Given the description of an element on the screen output the (x, y) to click on. 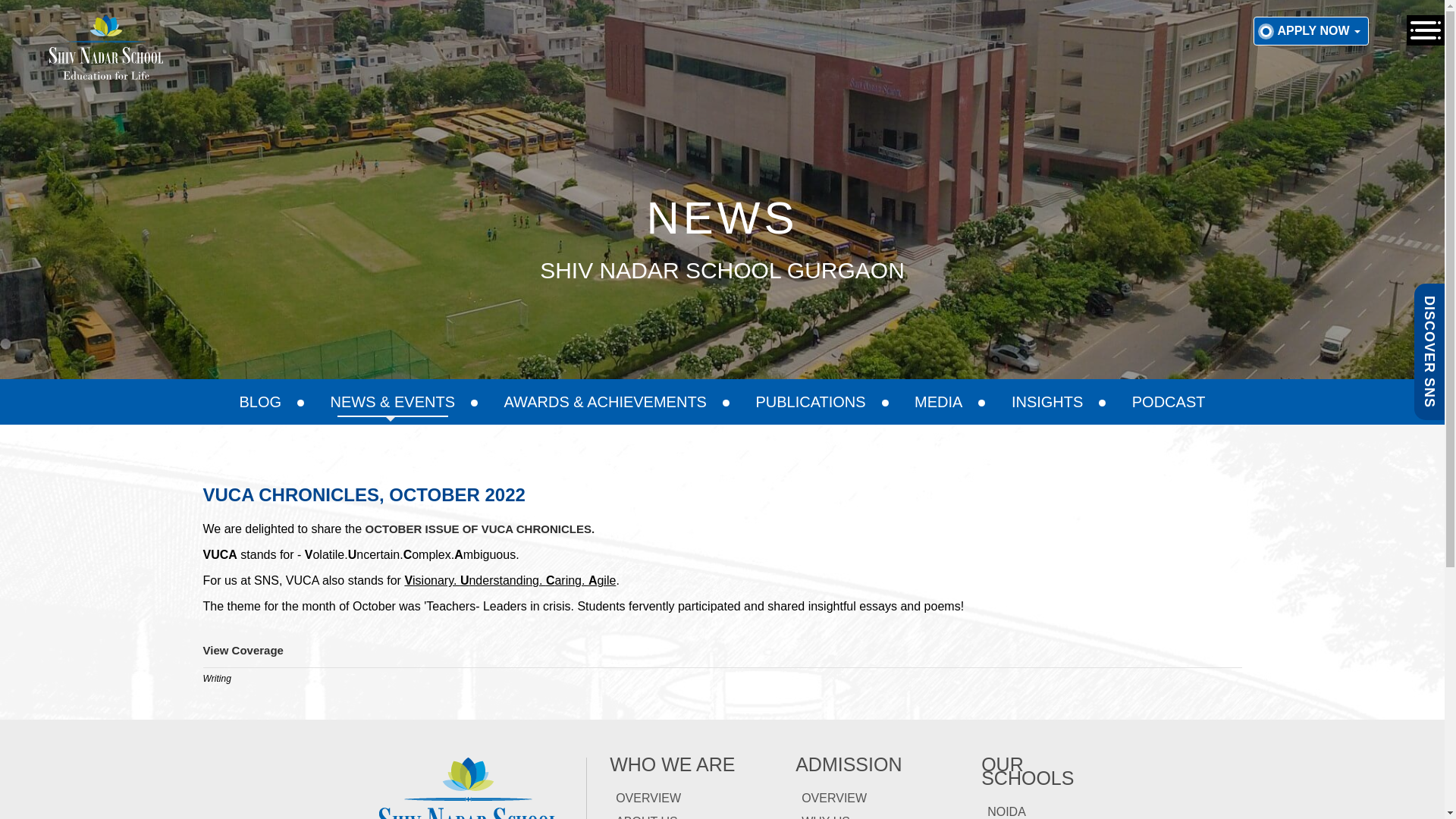
APPLY NOW (1310, 30)
